Given the description of an element on the screen output the (x, y) to click on. 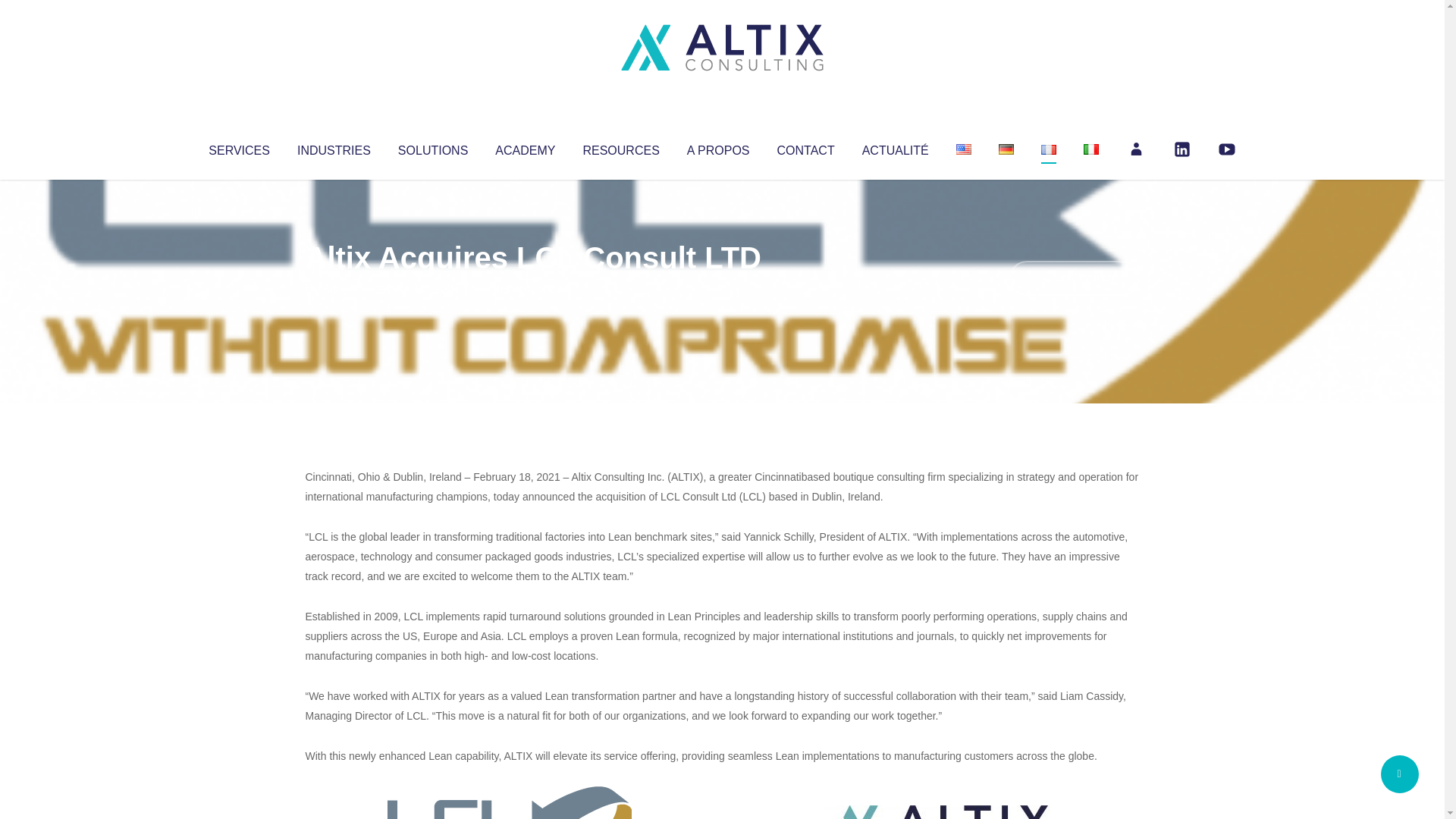
Uncategorized (530, 287)
SOLUTIONS (432, 146)
Altix (333, 287)
SERVICES (238, 146)
A PROPOS (718, 146)
Articles par Altix (333, 287)
INDUSTRIES (334, 146)
RESOURCES (620, 146)
No Comments (1073, 278)
ACADEMY (524, 146)
